Given the description of an element on the screen output the (x, y) to click on. 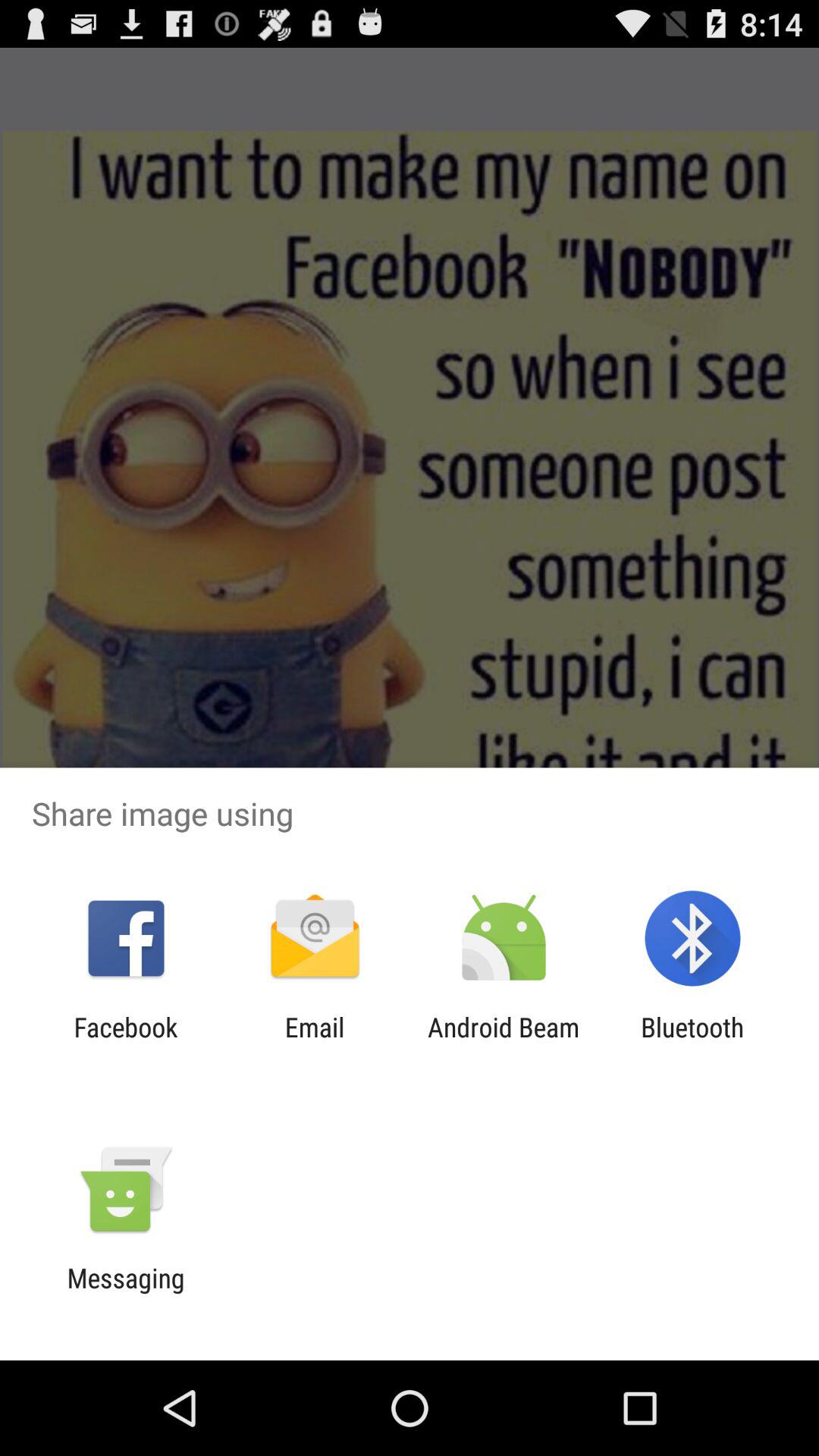
select icon next to the email item (503, 1042)
